Given the description of an element on the screen output the (x, y) to click on. 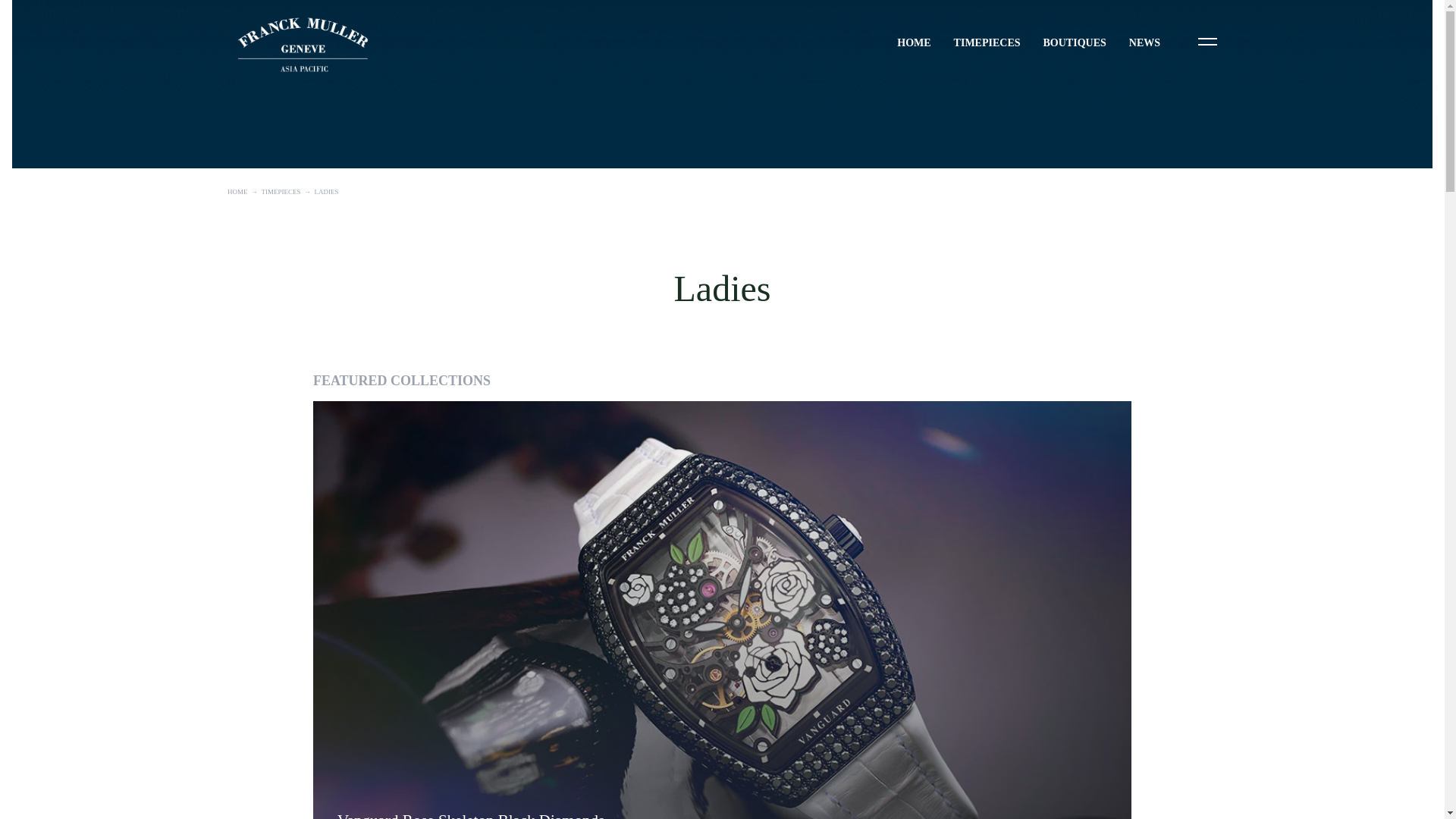
HOME (913, 42)
NEWS (1144, 42)
TIMEPIECES (986, 42)
BOUTIQUES (1074, 42)
